Given the description of an element on the screen output the (x, y) to click on. 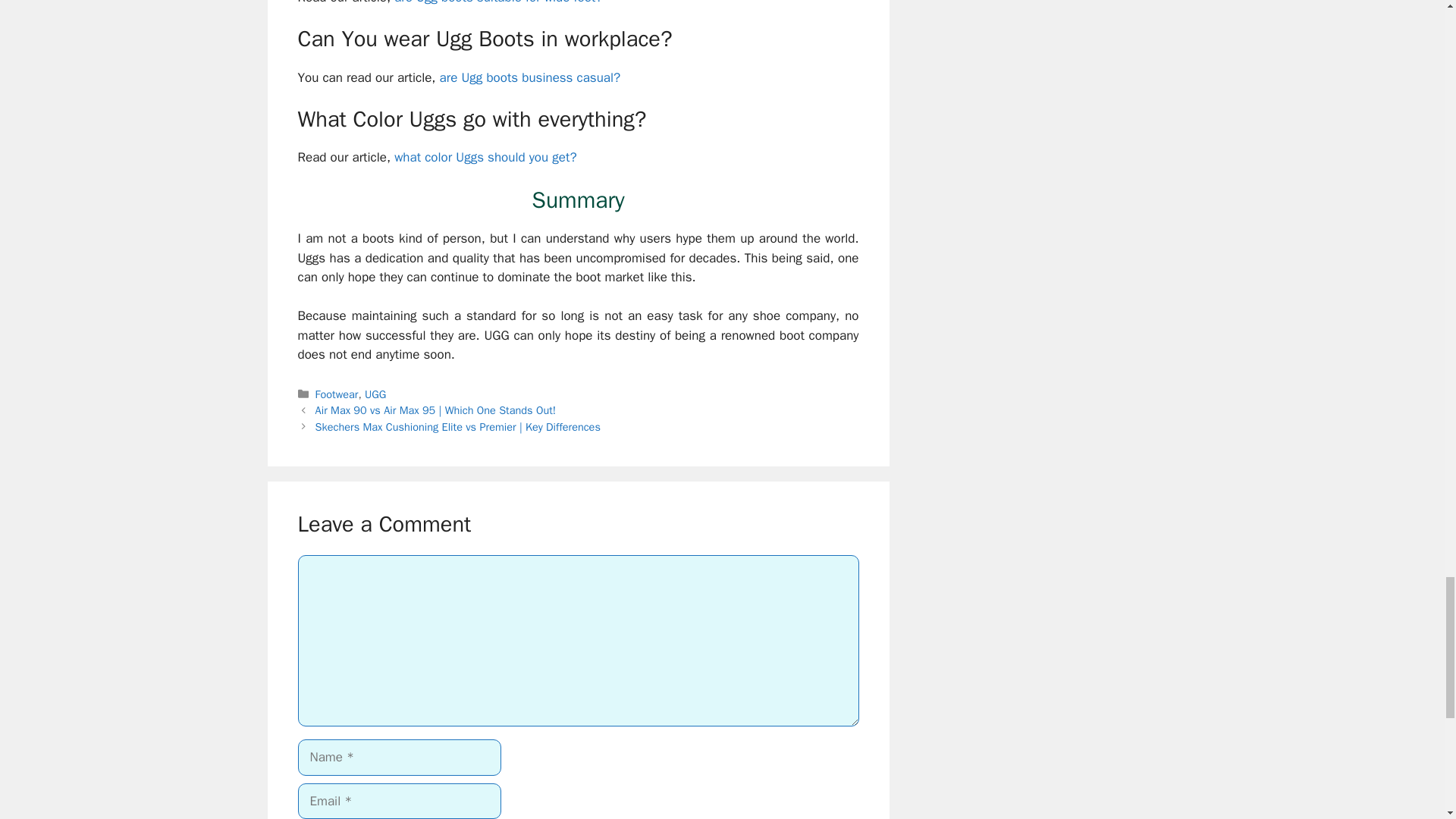
are Ugg boots suitable for wide feet? (498, 2)
UGG (375, 394)
Footwear (336, 394)
are Ugg boots business casual? (530, 77)
what color Uggs should you get? (485, 157)
